Given the description of an element on the screen output the (x, y) to click on. 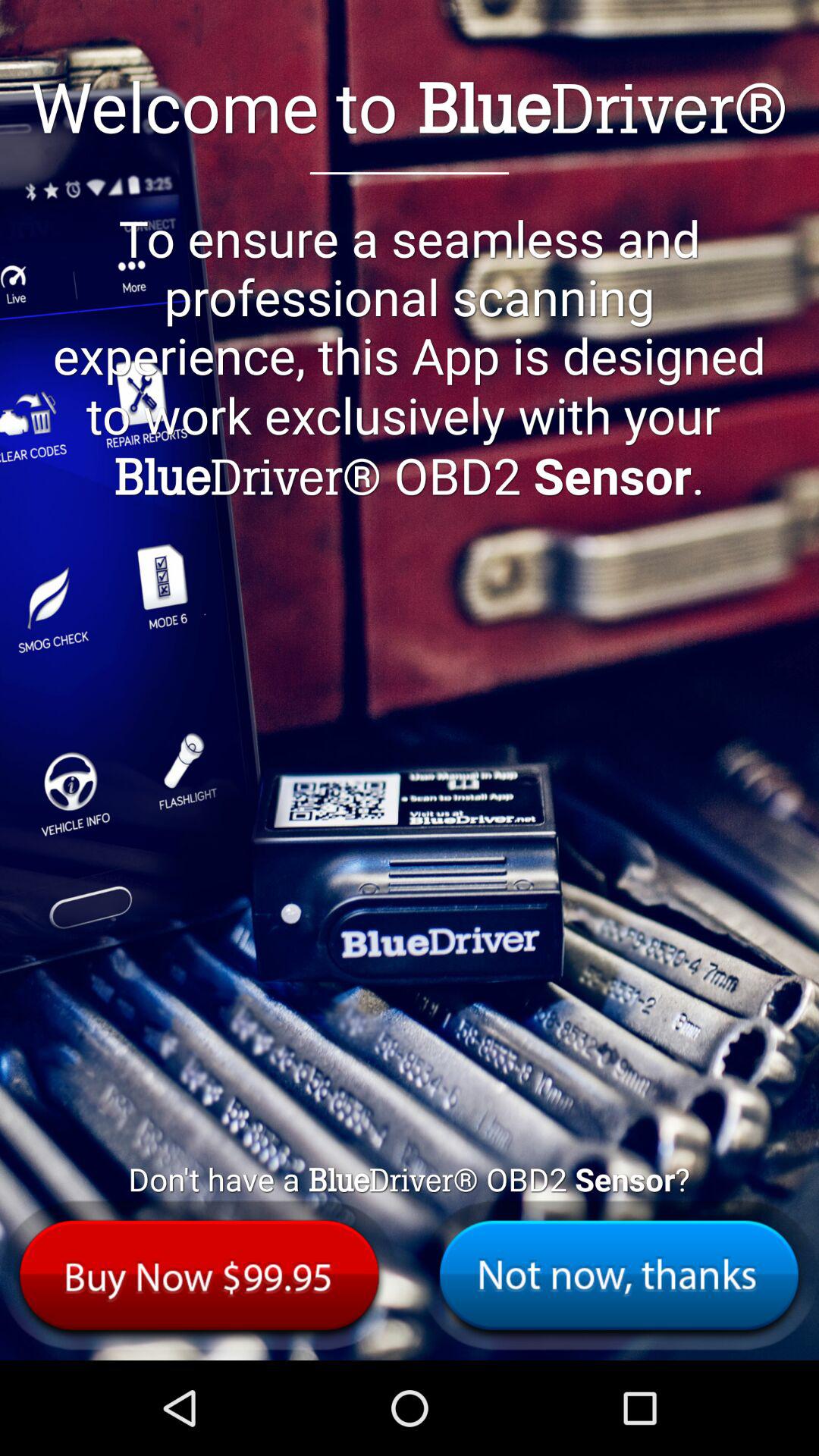
turn off the icon below don t have icon (619, 1275)
